Given the description of an element on the screen output the (x, y) to click on. 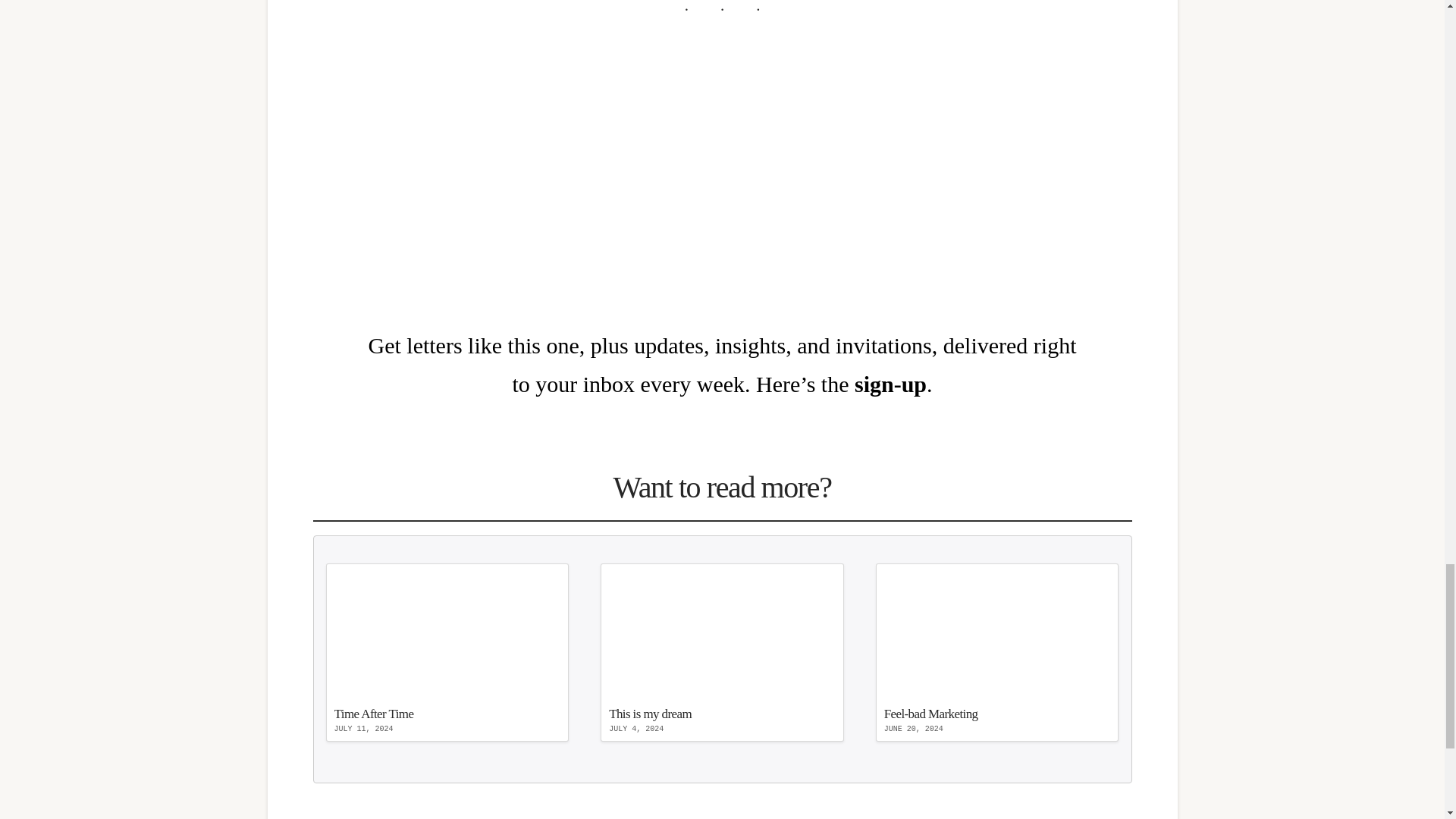
Permalink to: "Feel-bad Marketing" (997, 652)
sign-up (997, 652)
Permalink to: "This is my dream" (890, 383)
Permalink to: "Time After Time" (721, 652)
